Given the description of an element on the screen output the (x, y) to click on. 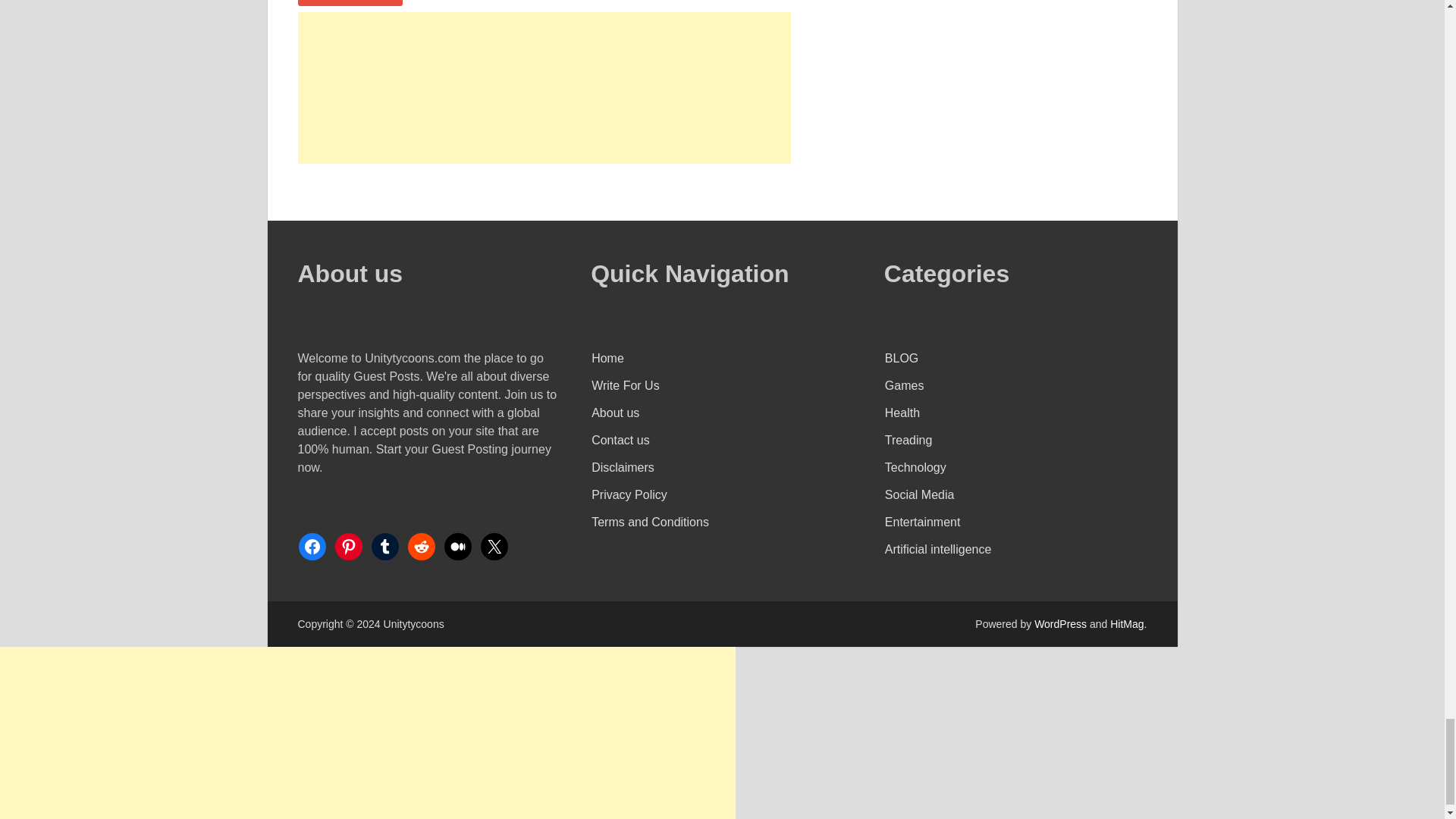
HitMag WordPress Theme (1125, 623)
Post Comment (349, 2)
WordPress (1059, 623)
Post Comment (349, 2)
